Given the description of an element on the screen output the (x, y) to click on. 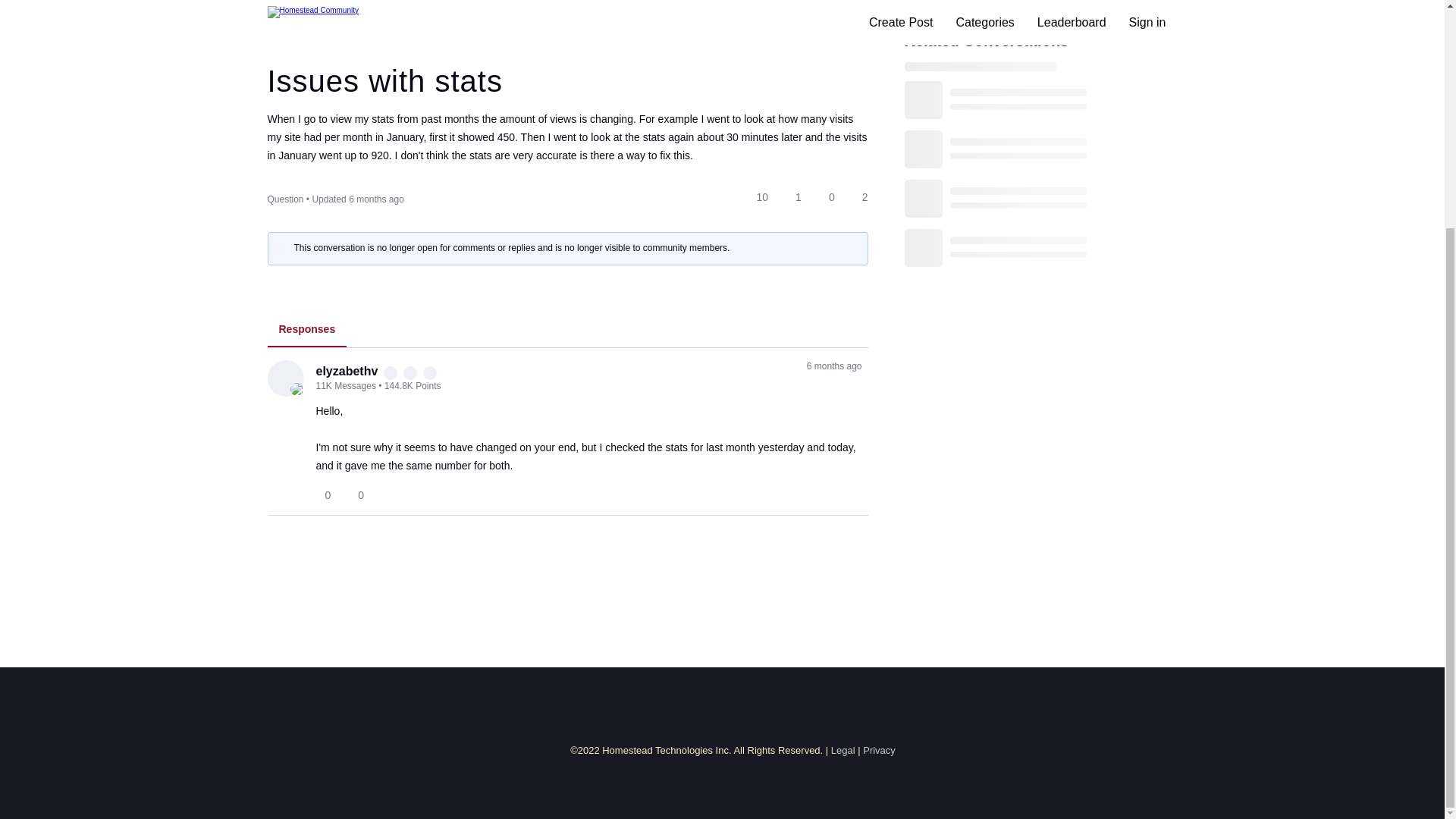
elyzabethv (284, 378)
2 (858, 196)
Loading... (1010, 168)
Legal (843, 749)
elyzabethv (296, 389)
Privacy (879, 749)
100000 Points (429, 373)
75 Points (419, 21)
elyzabethv (346, 371)
20000 Points (390, 373)
